Given the description of an element on the screen output the (x, y) to click on. 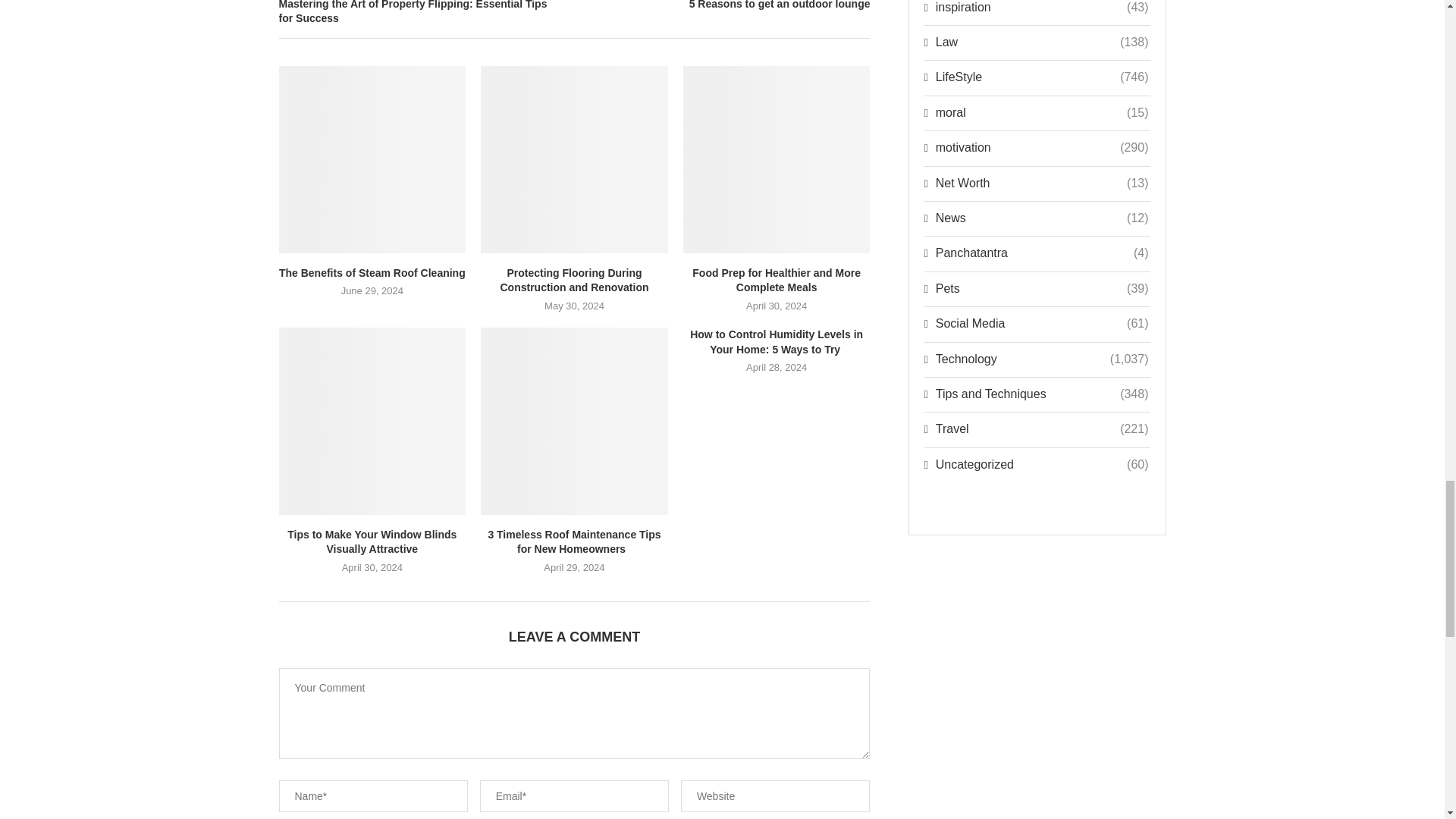
Protecting Flooring During Construction and Renovation (574, 159)
The Benefits of Steam Roof Cleaning (372, 159)
